Given the description of an element on the screen output the (x, y) to click on. 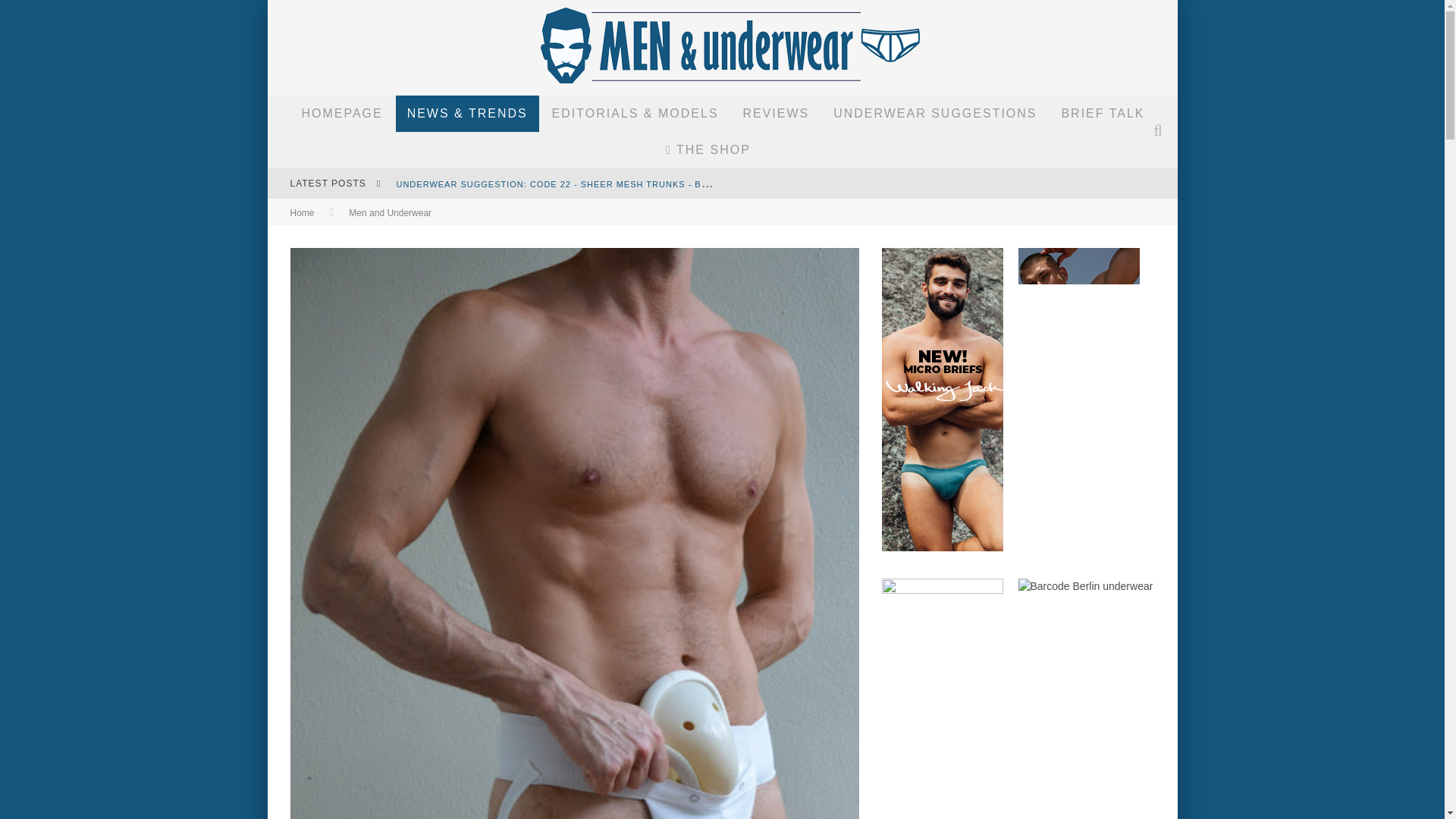
Underwear Suggestion: CODE 22 - Sheer Mesh Trunks - Black (560, 182)
View all posts in Men and Underwear (389, 213)
HOMEPAGE (341, 113)
